Given the description of an element on the screen output the (x, y) to click on. 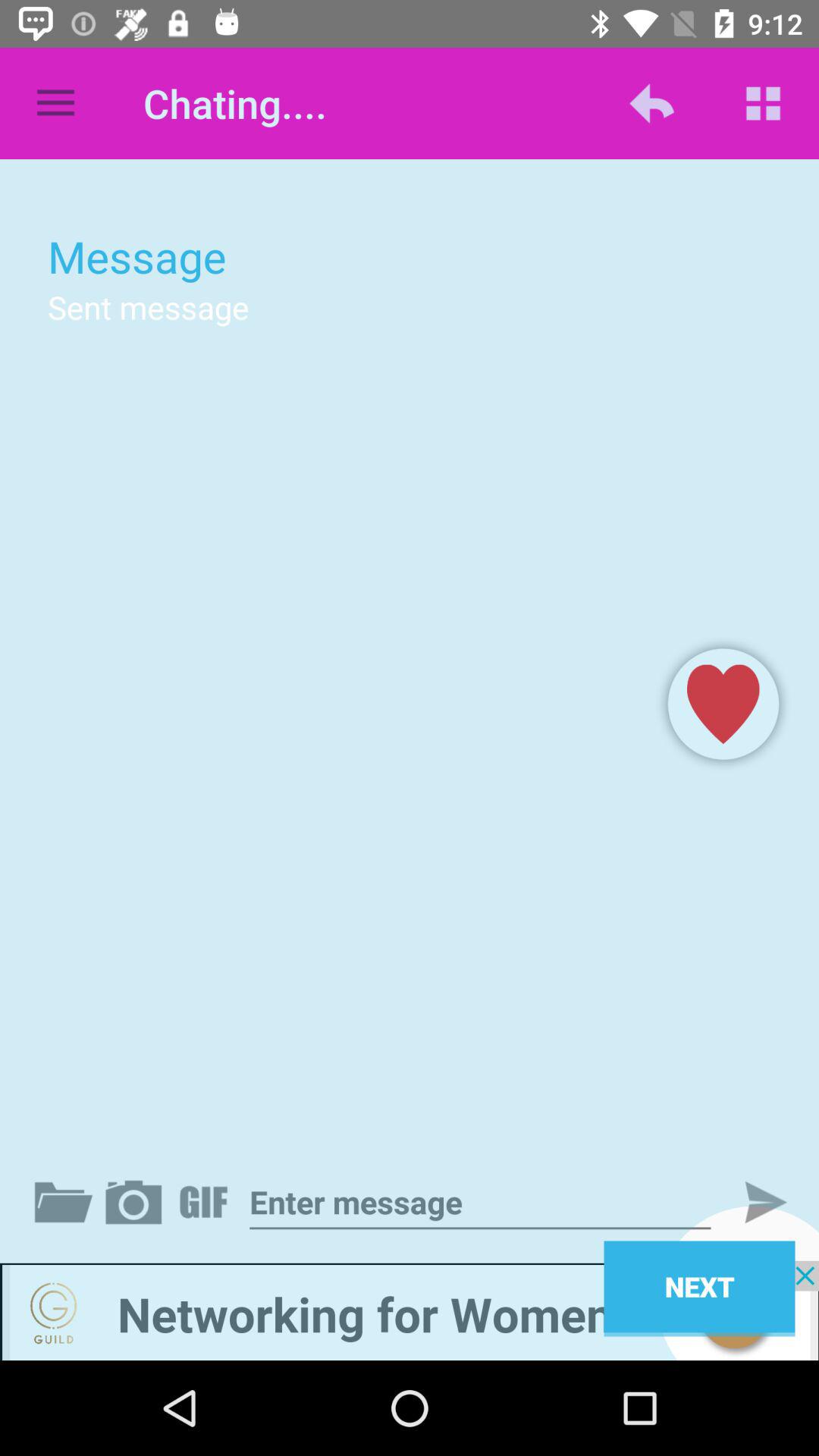
access camera (136, 1202)
